Given the description of an element on the screen output the (x, y) to click on. 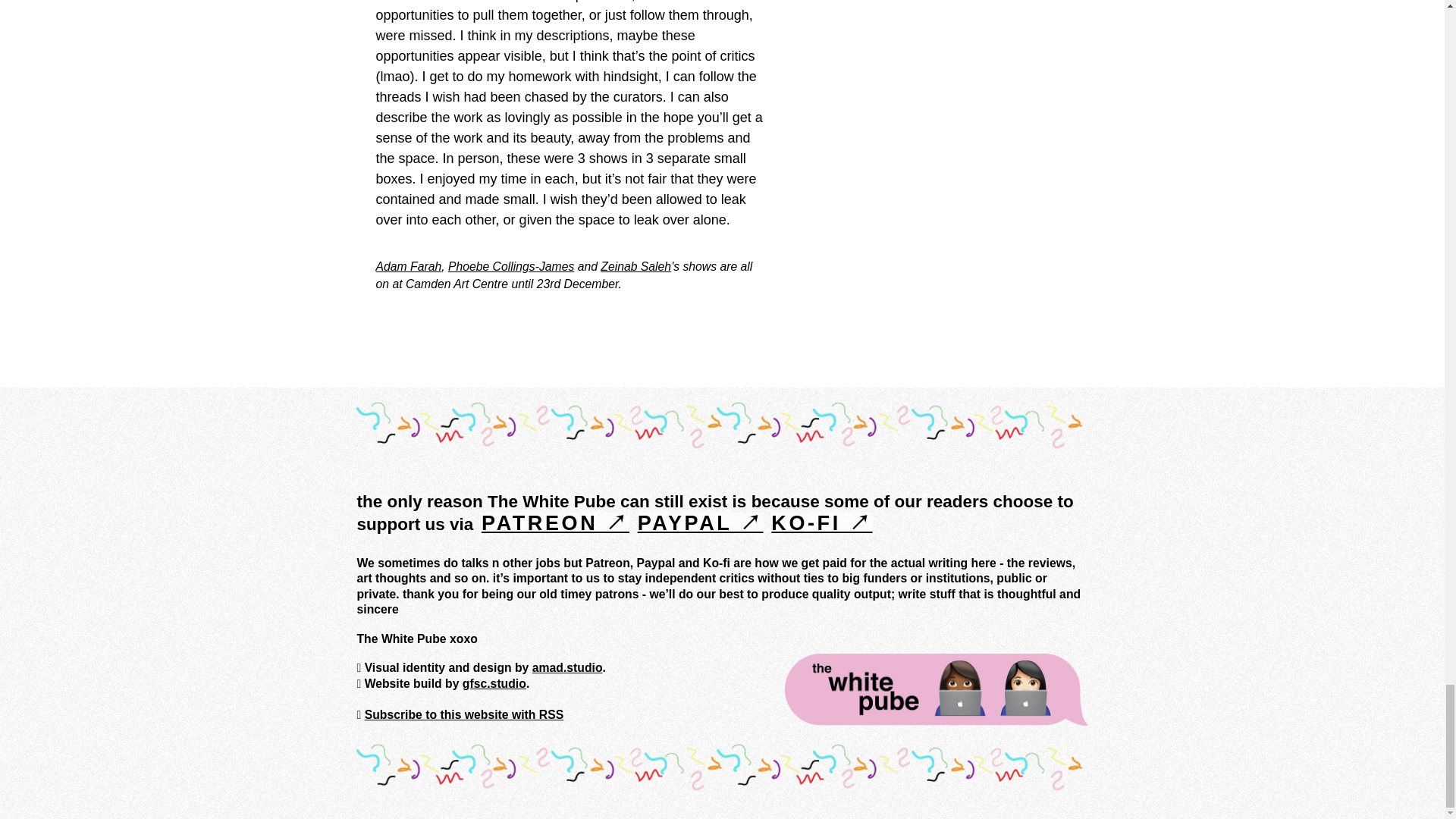
Adam Farah (408, 265)
Phoebe Collings-James (510, 265)
Zeinab Saleh (635, 265)
